Given the description of an element on the screen output the (x, y) to click on. 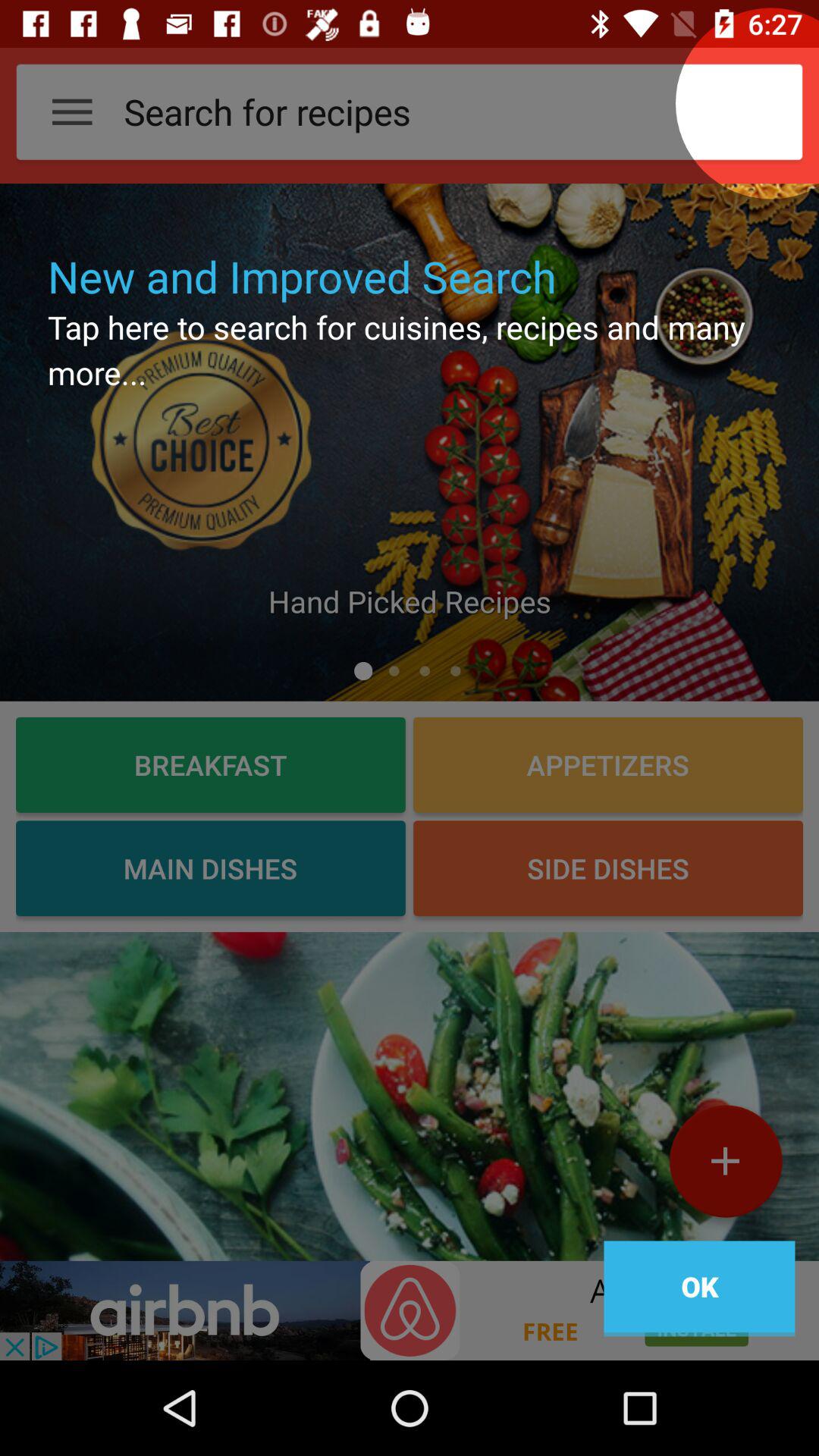
click on the breakfast (210, 764)
select the appetizers (608, 764)
click on the search bar (771, 103)
click on the  plus icon above ok (725, 1167)
